Given the description of an element on the screen output the (x, y) to click on. 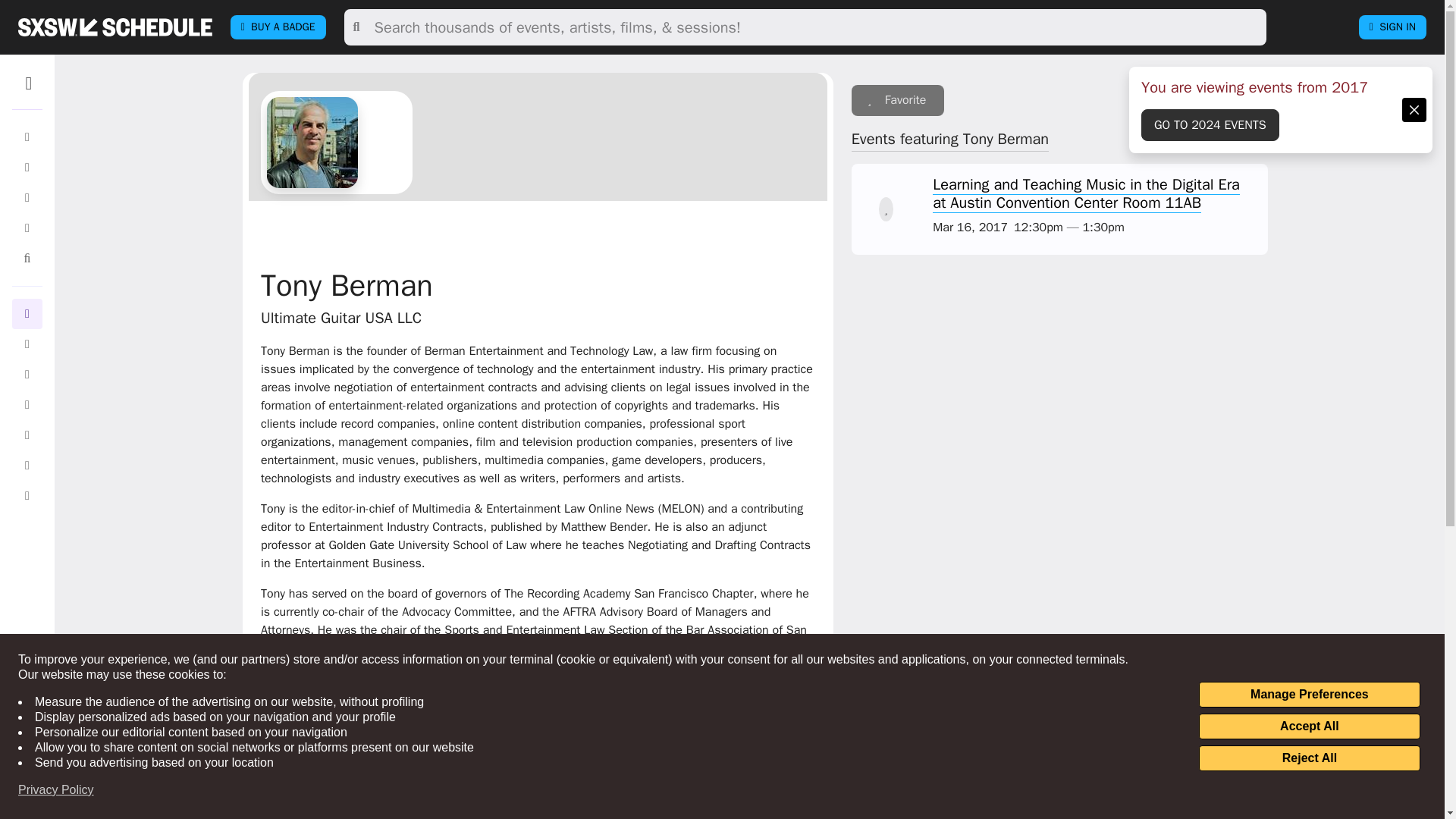
BUY A BADGE (278, 27)
Accept All (1309, 726)
GO TO 2024 EVENTS (1210, 124)
Sign In to add to your favorites. (897, 100)
sxsw SCHEDULE (114, 27)
SIGN IN (1392, 27)
Reject All (1309, 758)
Privacy Policy (55, 789)
Manage Preferences (1309, 694)
